Given the description of an element on the screen output the (x, y) to click on. 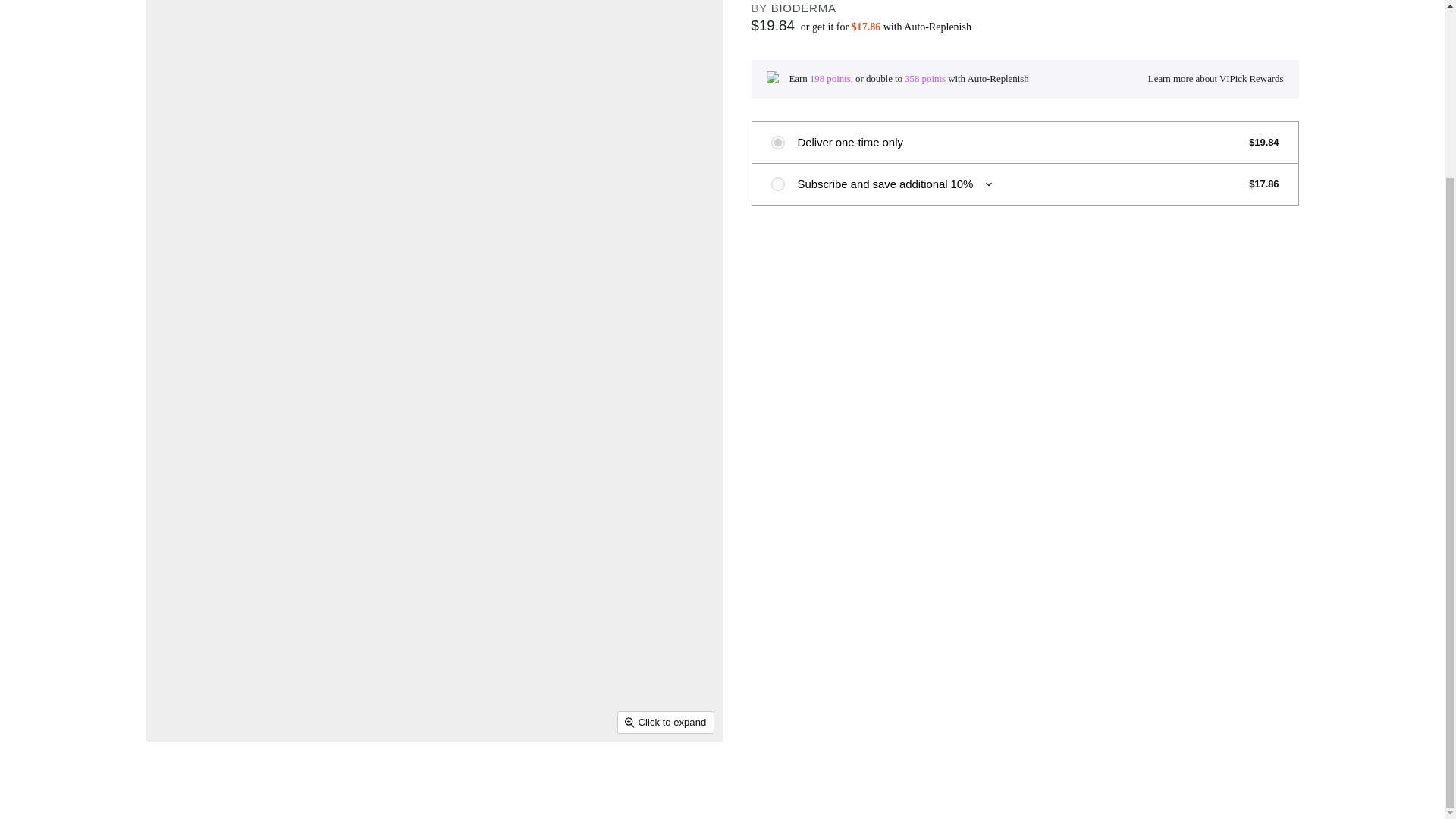
on (777, 183)
on (777, 142)
Bioderma (803, 7)
